Given the description of an element on the screen output the (x, y) to click on. 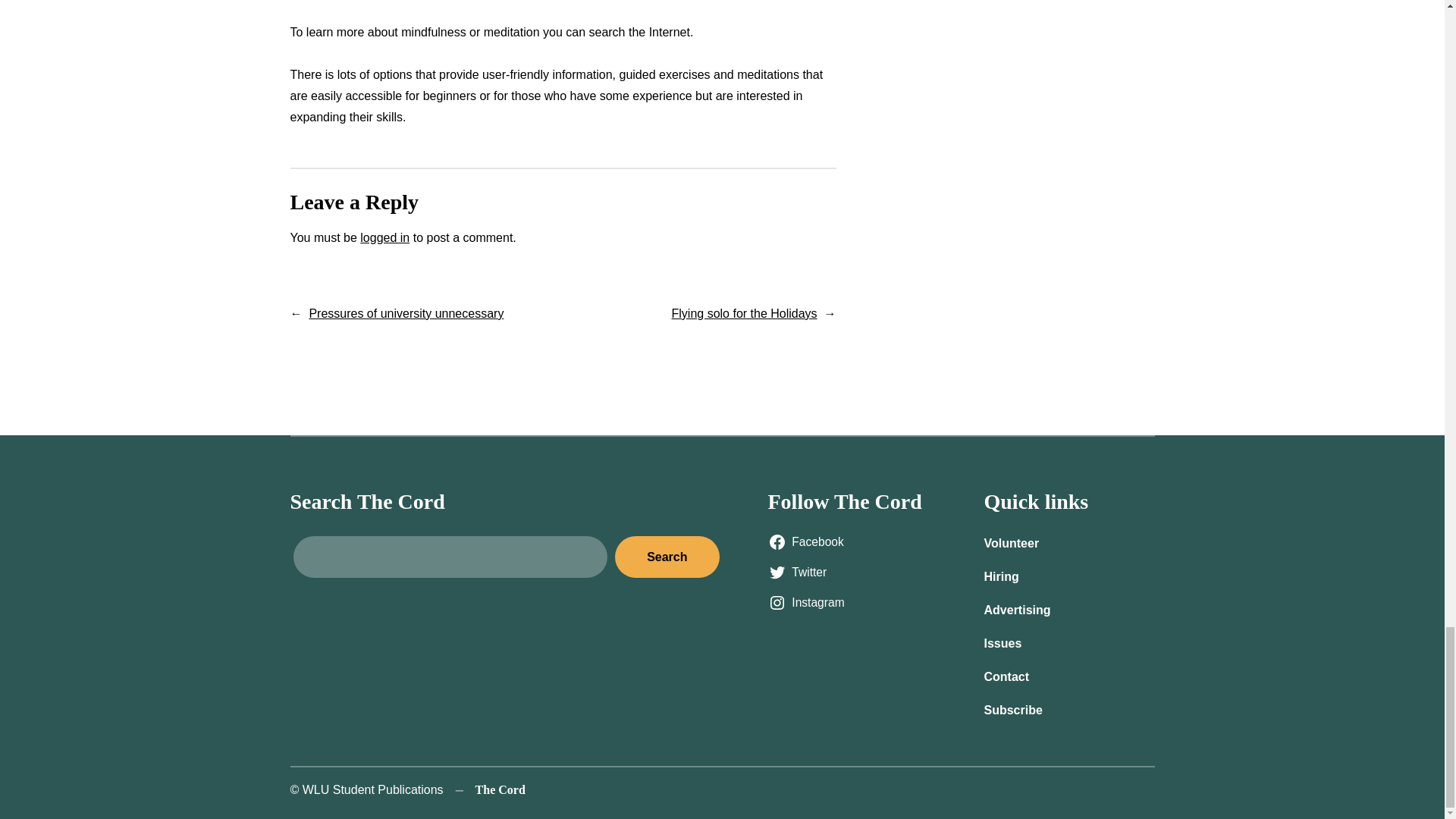
Flying solo for the Holidays (743, 313)
logged in (384, 237)
Pressures of university unnecessary (405, 313)
